Given the description of an element on the screen output the (x, y) to click on. 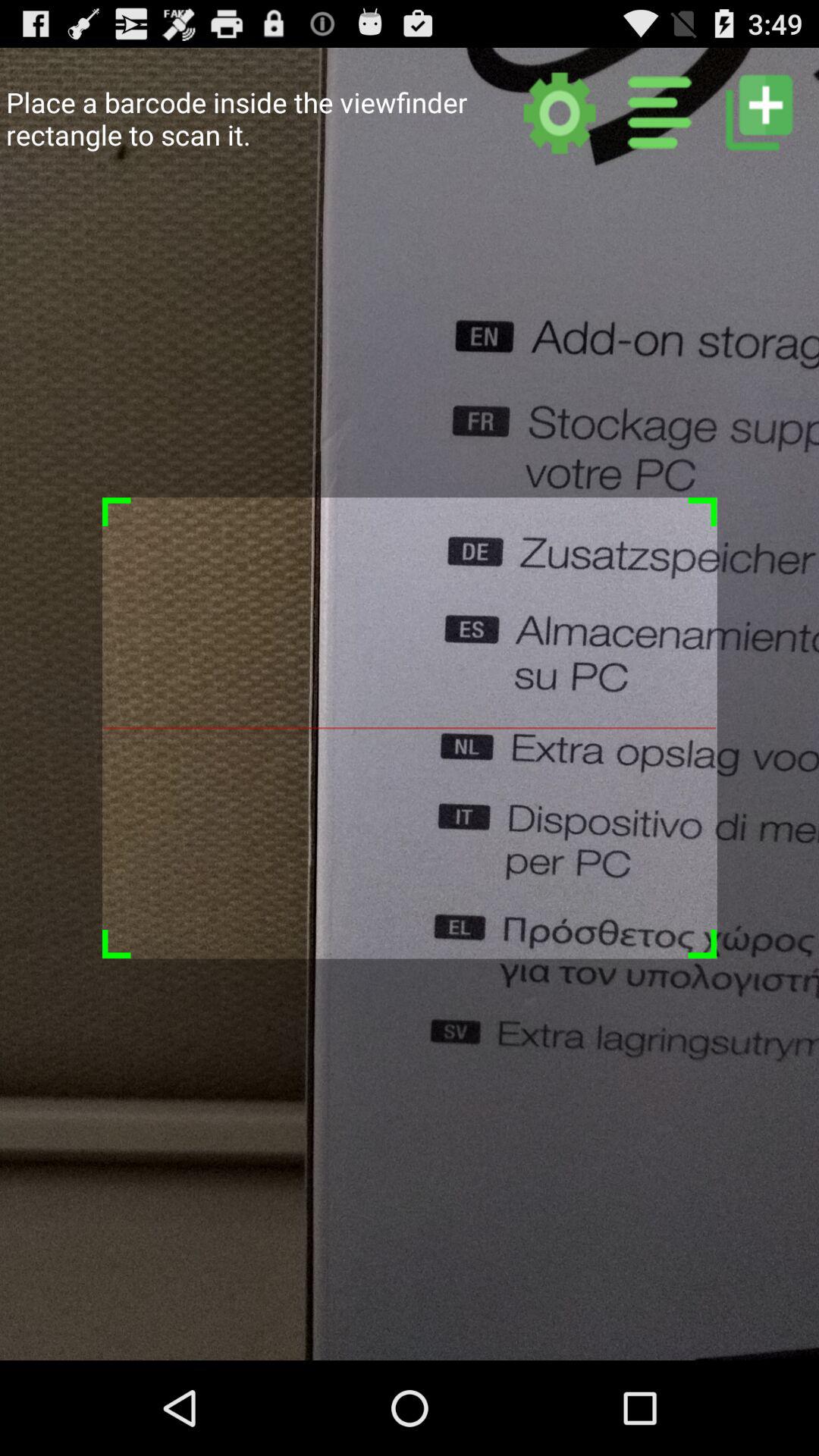
tap to get settings menu (560, 112)
